Given the description of an element on the screen output the (x, y) to click on. 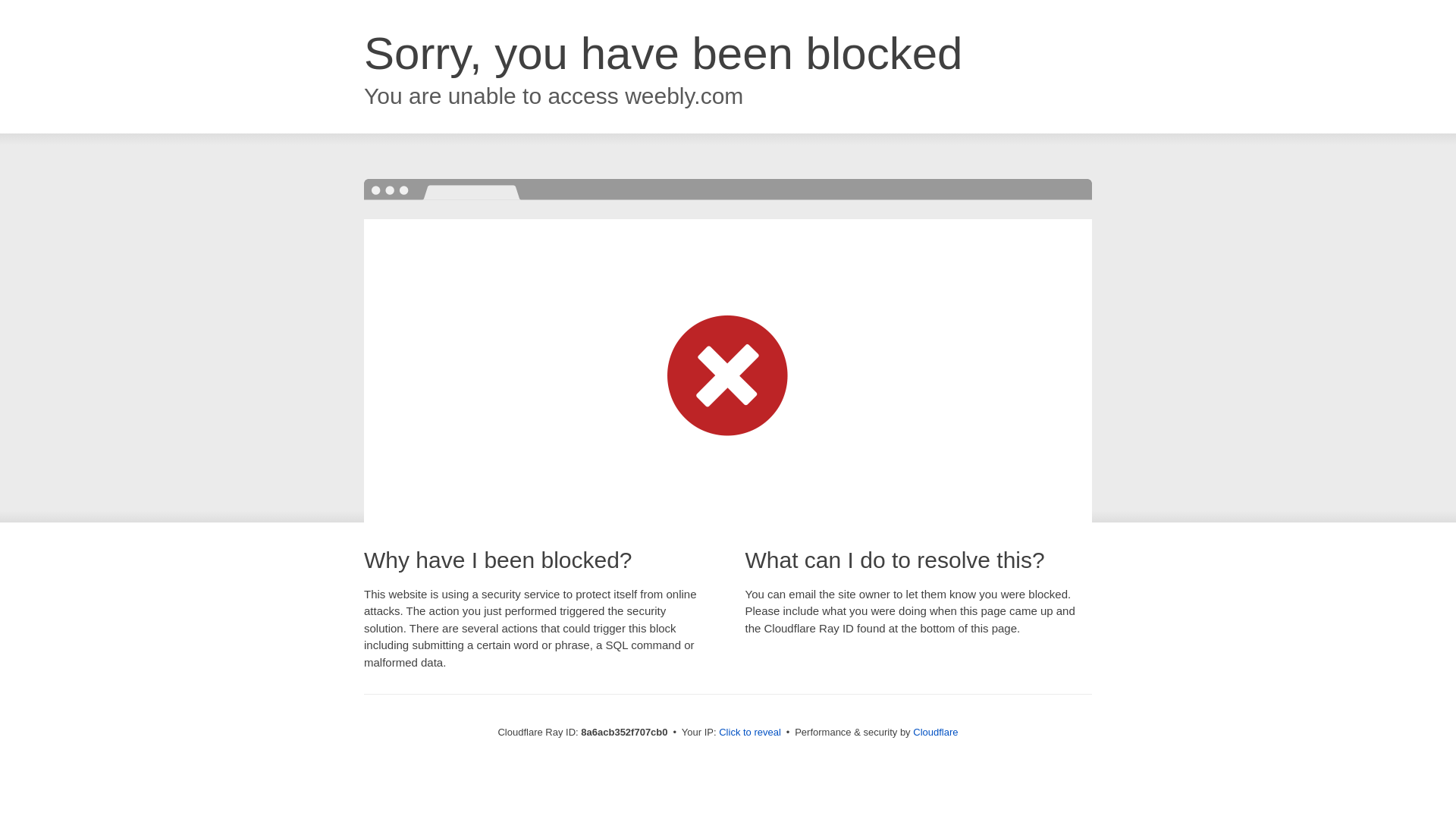
Cloudflare (935, 731)
Click to reveal (749, 732)
